Given the description of an element on the screen output the (x, y) to click on. 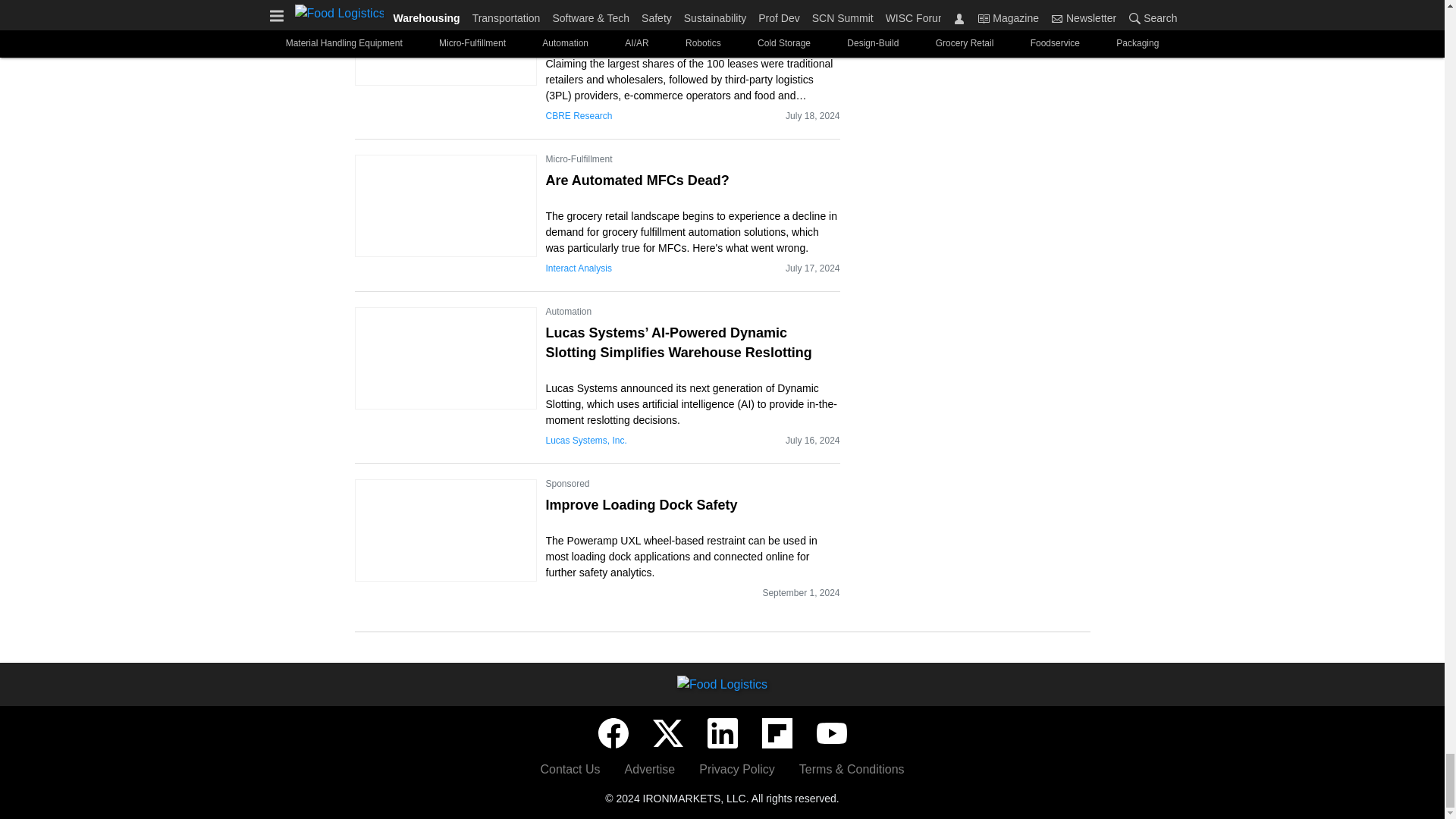
Flipboard icon (776, 733)
YouTube icon (830, 733)
Facebook icon (611, 733)
LinkedIn icon (721, 733)
Twitter X icon (667, 733)
